Given the description of an element on the screen output the (x, y) to click on. 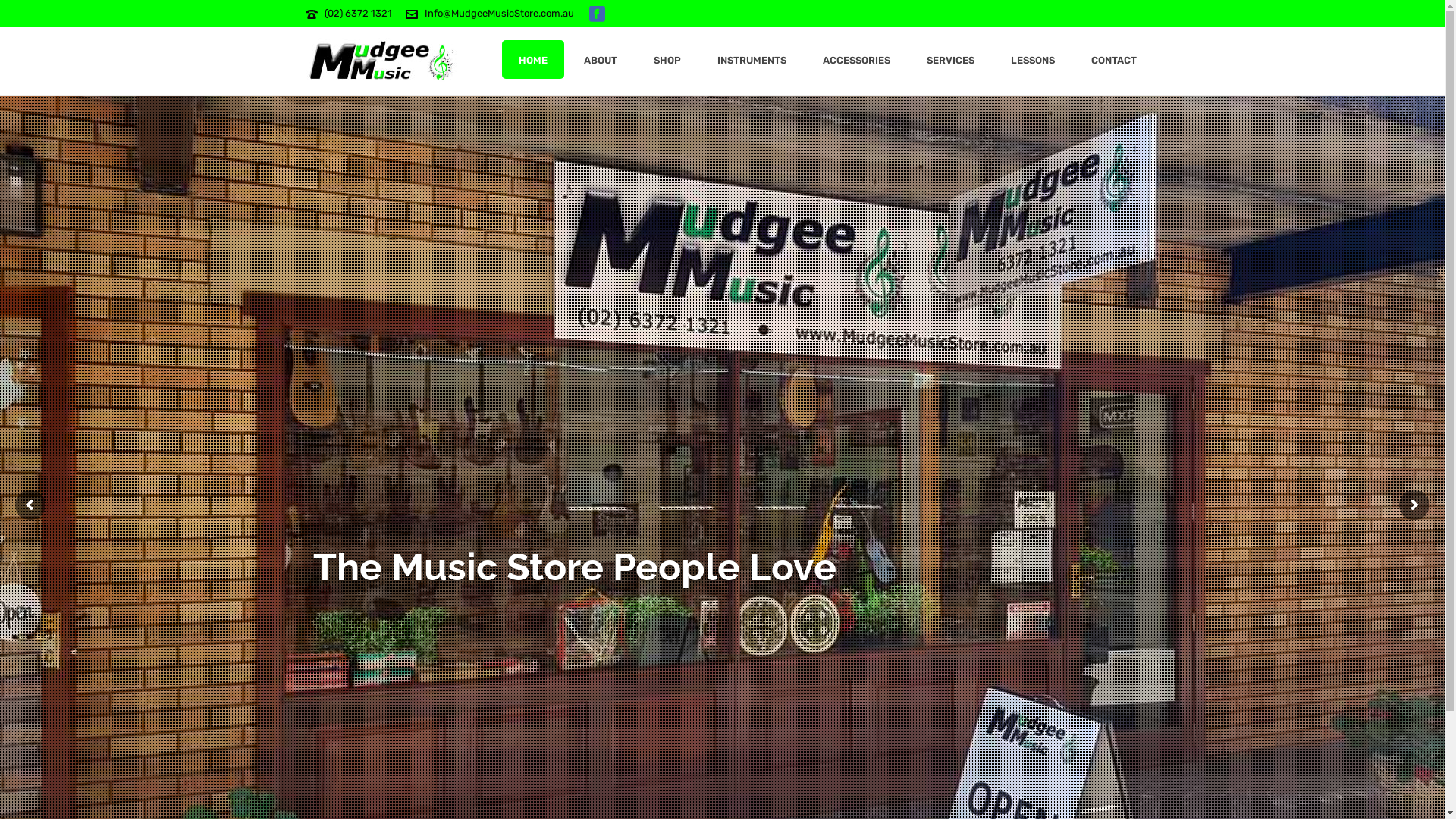
Music for Everyone Element type: hover (380, 60)
ACCESSORIES Element type: text (855, 59)
CONTACT Element type: text (1112, 59)
SERVICES Element type: text (950, 59)
SHOP Element type: text (667, 59)
INSTRUMENTS Element type: text (751, 59)
Info@MudgeeMusicStore.com.au Element type: text (499, 12)
HOME Element type: text (533, 59)
LESSONS Element type: text (1031, 59)
(02) 6372 1321 Element type: text (358, 12)
ABOUT Element type: text (600, 59)
